Given the description of an element on the screen output the (x, y) to click on. 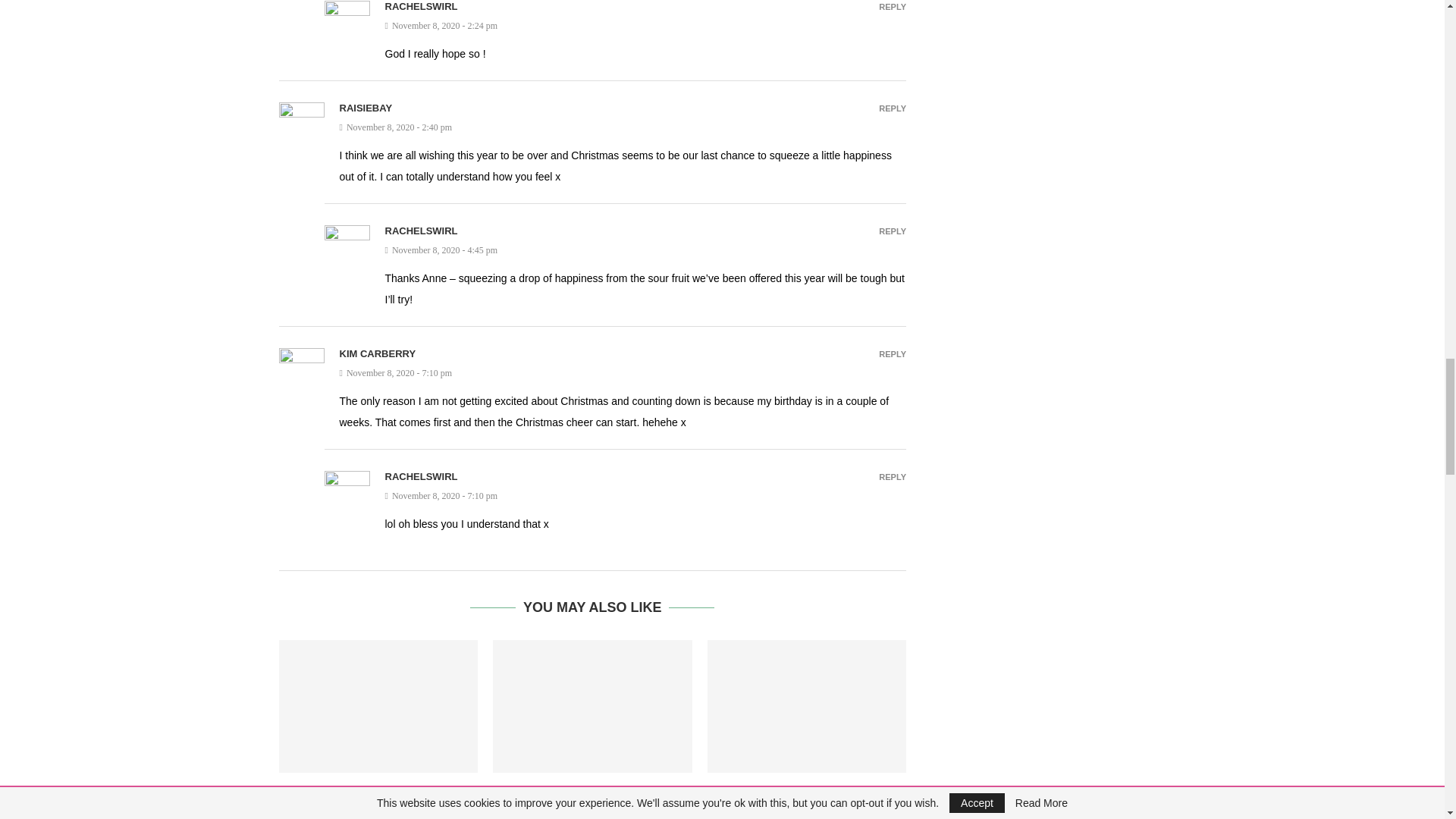
Sunday, November 8, 2020, 7:10 pm (623, 373)
REPLY (892, 7)
Sunday, November 8, 2020, 2:24 pm (646, 25)
REPLY (892, 354)
RAISIEBAY (366, 107)
Sunday, November 8, 2020, 7:10 pm (646, 496)
KIM CARBERRY (377, 353)
REPLY (892, 108)
Sunday, November 8, 2020, 2:40 pm (623, 127)
RACHELSWIRL (421, 6)
